Given the description of an element on the screen output the (x, y) to click on. 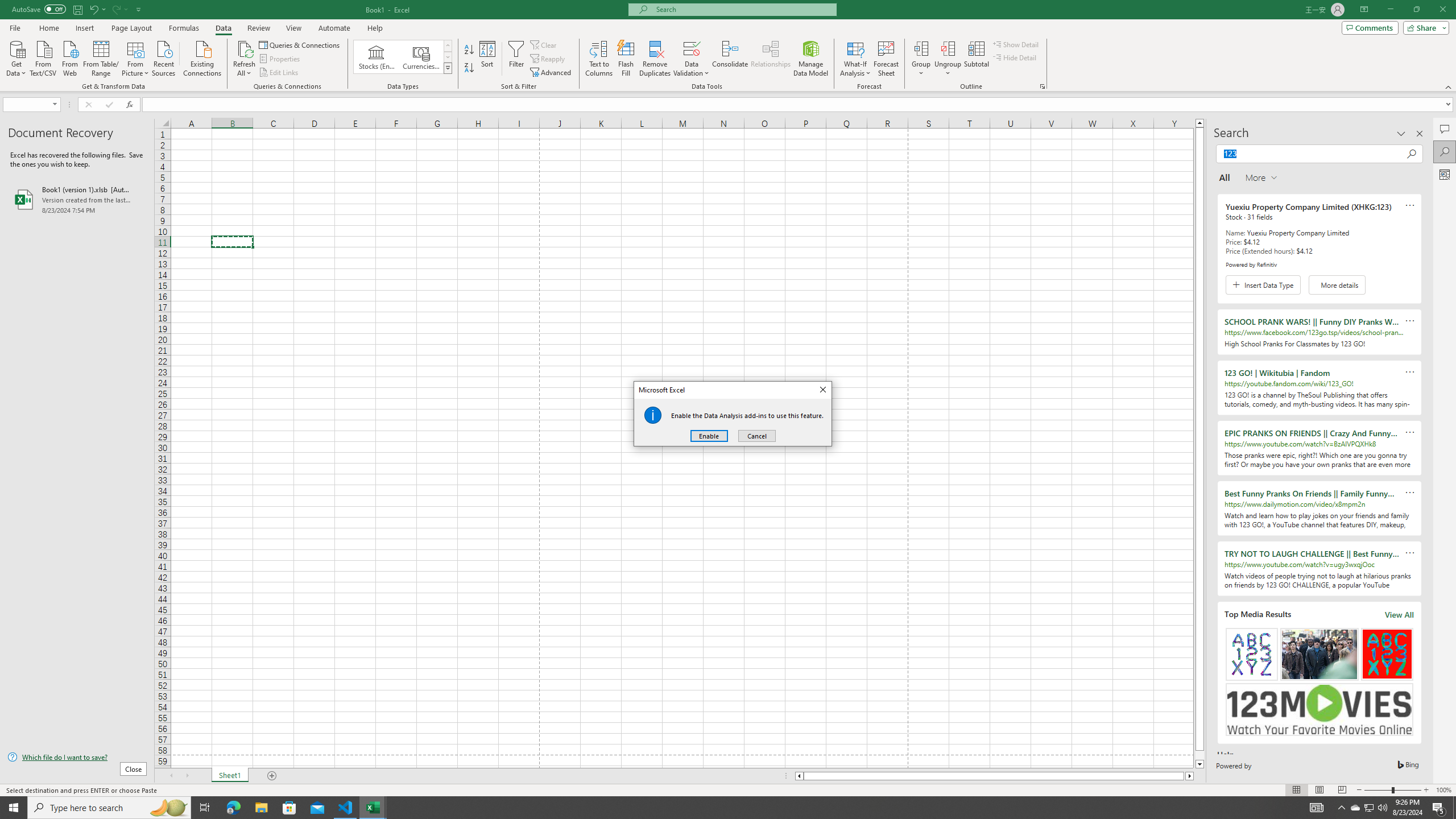
Running applications (717, 807)
Enable (709, 435)
